Given the description of an element on the screen output the (x, y) to click on. 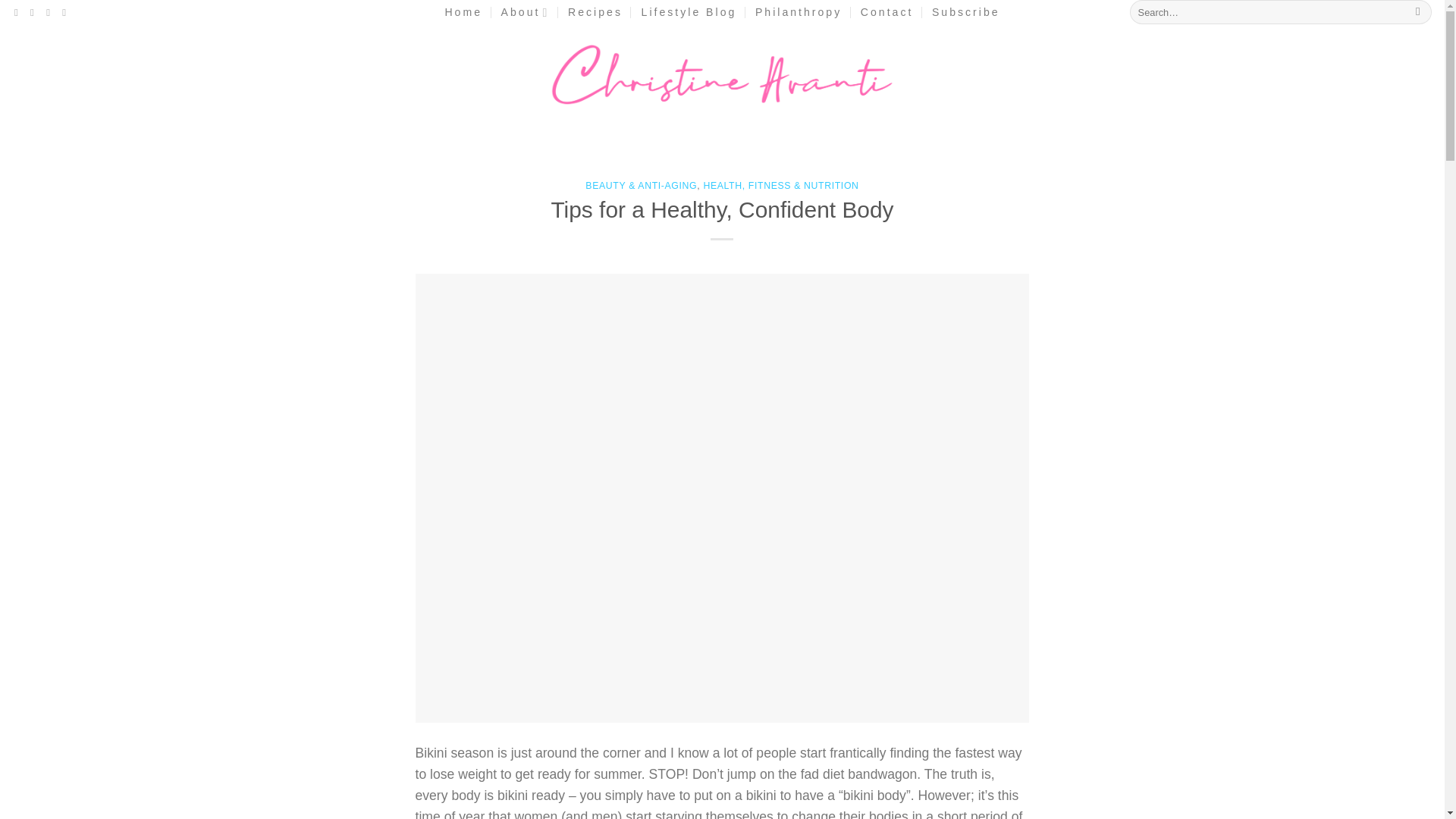
Contact (887, 12)
Home (462, 12)
Sign up to receive recipes straight to your inbox. (965, 12)
Lifestyle Blog (689, 12)
Recipes (595, 12)
About (525, 12)
Subscribe (965, 12)
Philanthropy (798, 12)
